Given the description of an element on the screen output the (x, y) to click on. 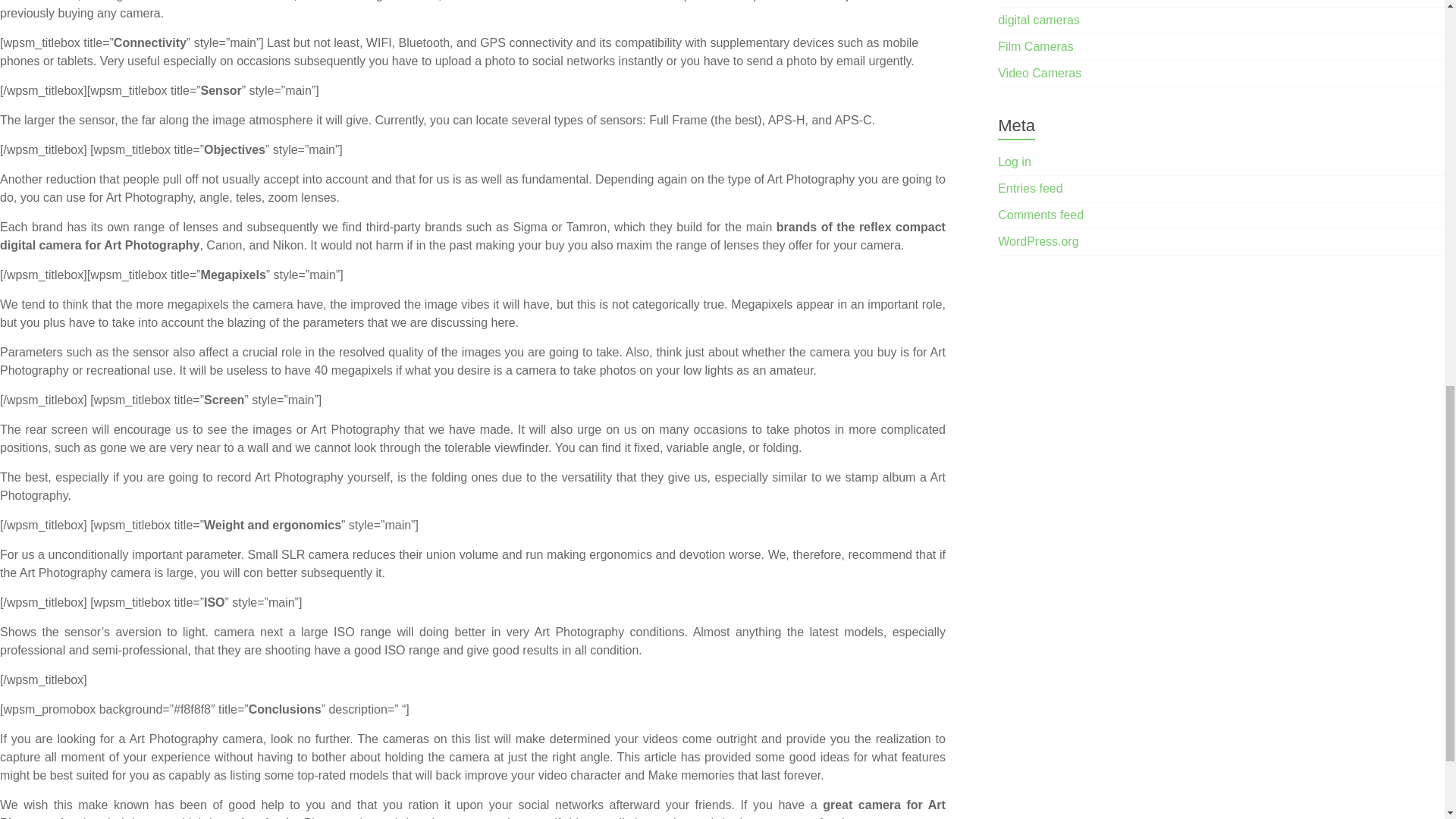
digital cameras (1038, 19)
Video Cameras (1039, 72)
Film Cameras (1035, 46)
Entries feed (1029, 187)
Log in (1013, 161)
